Given the description of an element on the screen output the (x, y) to click on. 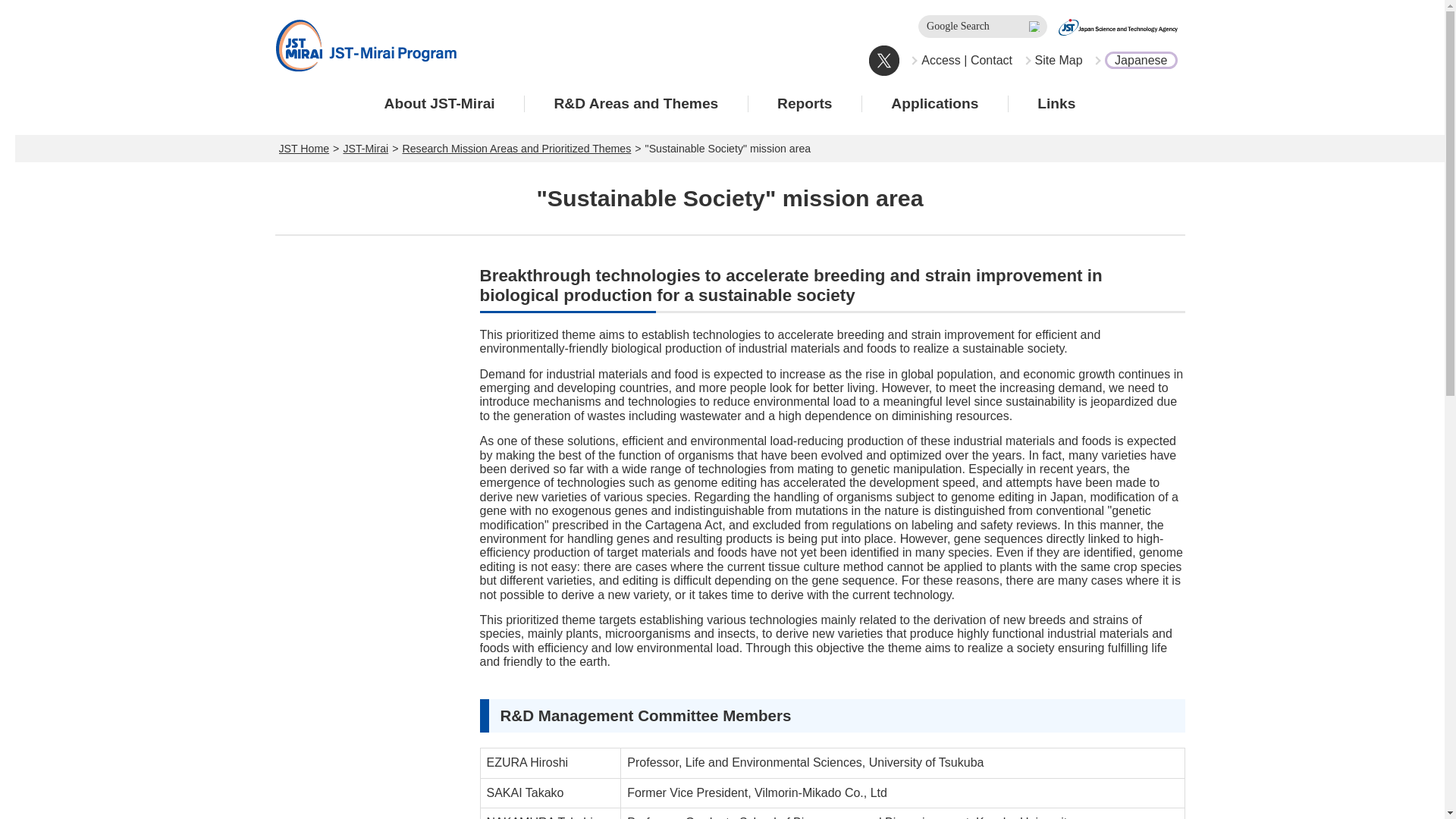
Site Map (1053, 60)
JST-Mirai (365, 148)
Applications (935, 103)
Google Search (982, 26)
Reports (804, 103)
About JST-Mirai (439, 103)
Google Search (982, 26)
Links (1057, 103)
JST Home (304, 148)
Japanese (1134, 60)
